Given the description of an element on the screen output the (x, y) to click on. 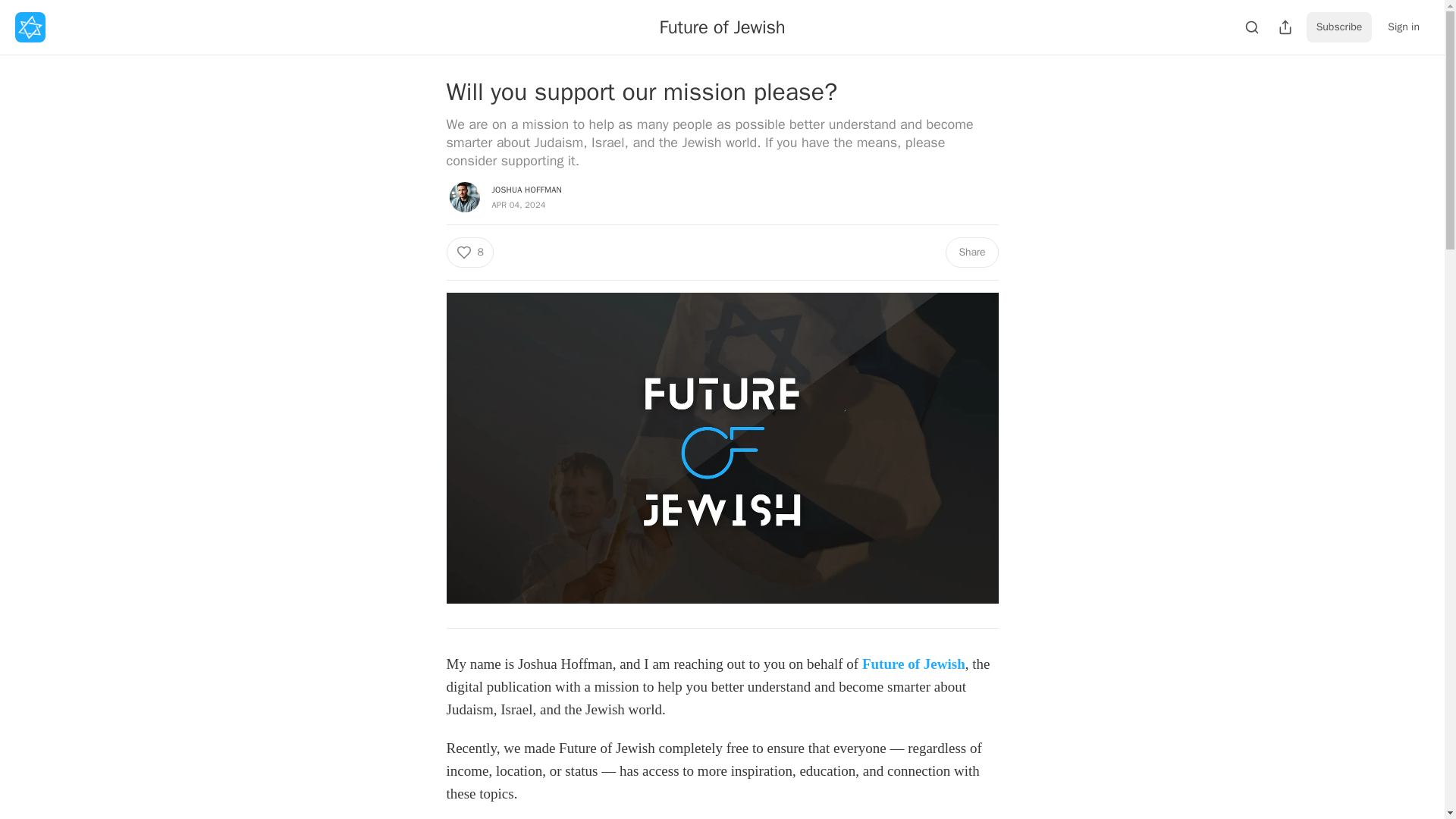
JOSHUA HOFFMAN (526, 189)
8 (469, 252)
Sign in (1403, 27)
Share (970, 252)
Future of Jewish (721, 26)
Subscribe (1339, 27)
Future of Jewish (913, 662)
